Given the description of an element on the screen output the (x, y) to click on. 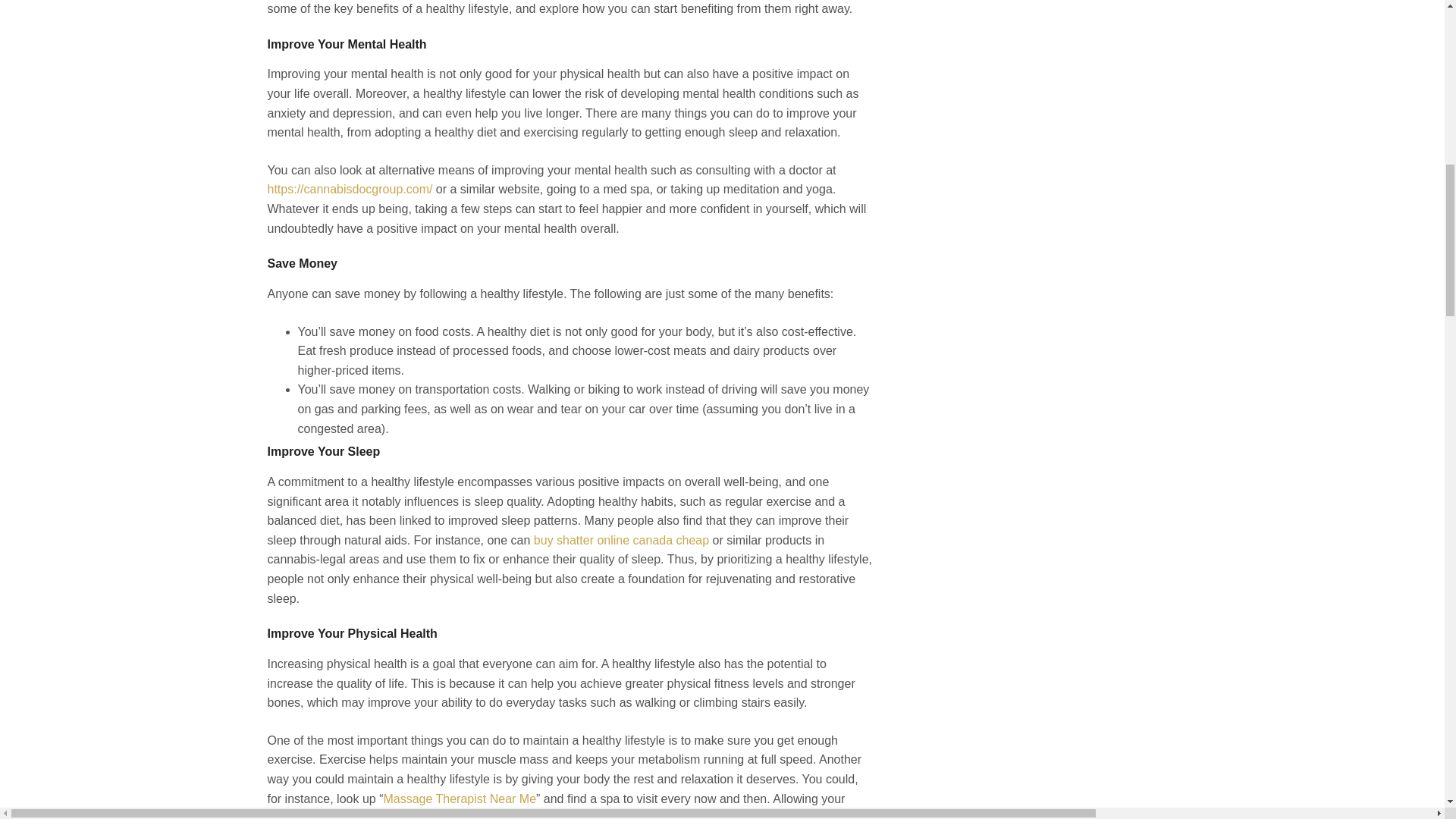
buy shatter online canada cheap (621, 540)
Massage Therapist Near Me (458, 797)
